Given the description of an element on the screen output the (x, y) to click on. 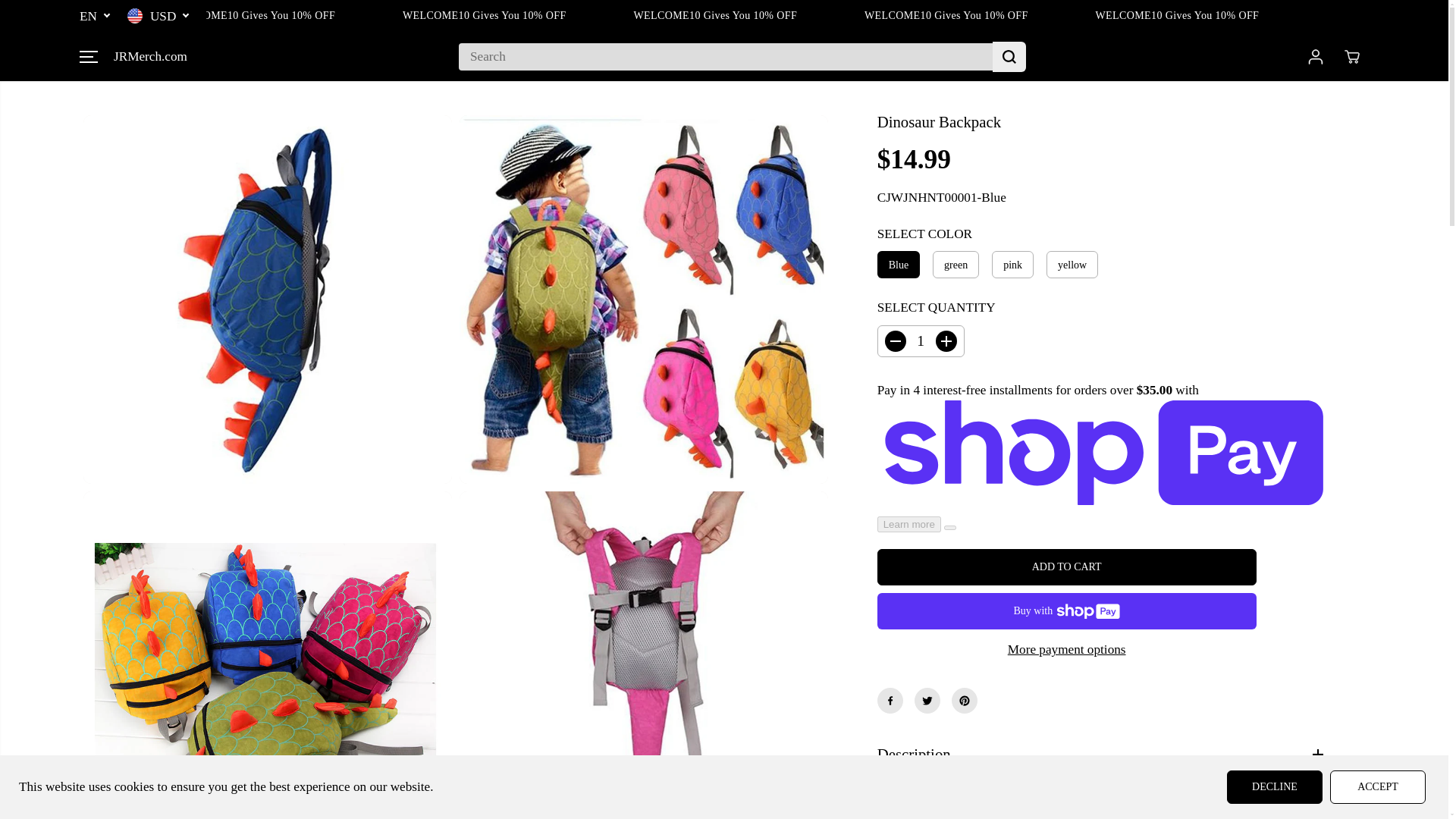
Log in (1315, 56)
SKIP TO CONTENT (60, 18)
pink (1009, 264)
green (952, 264)
yellow (1069, 264)
Blue (895, 264)
pink (1009, 264)
Blue (895, 264)
Pinterest (964, 700)
yellow (1069, 264)
Facebook (889, 700)
1 (920, 341)
Twitter (927, 700)
Cart (1351, 56)
green (952, 264)
